Given the description of an element on the screen output the (x, y) to click on. 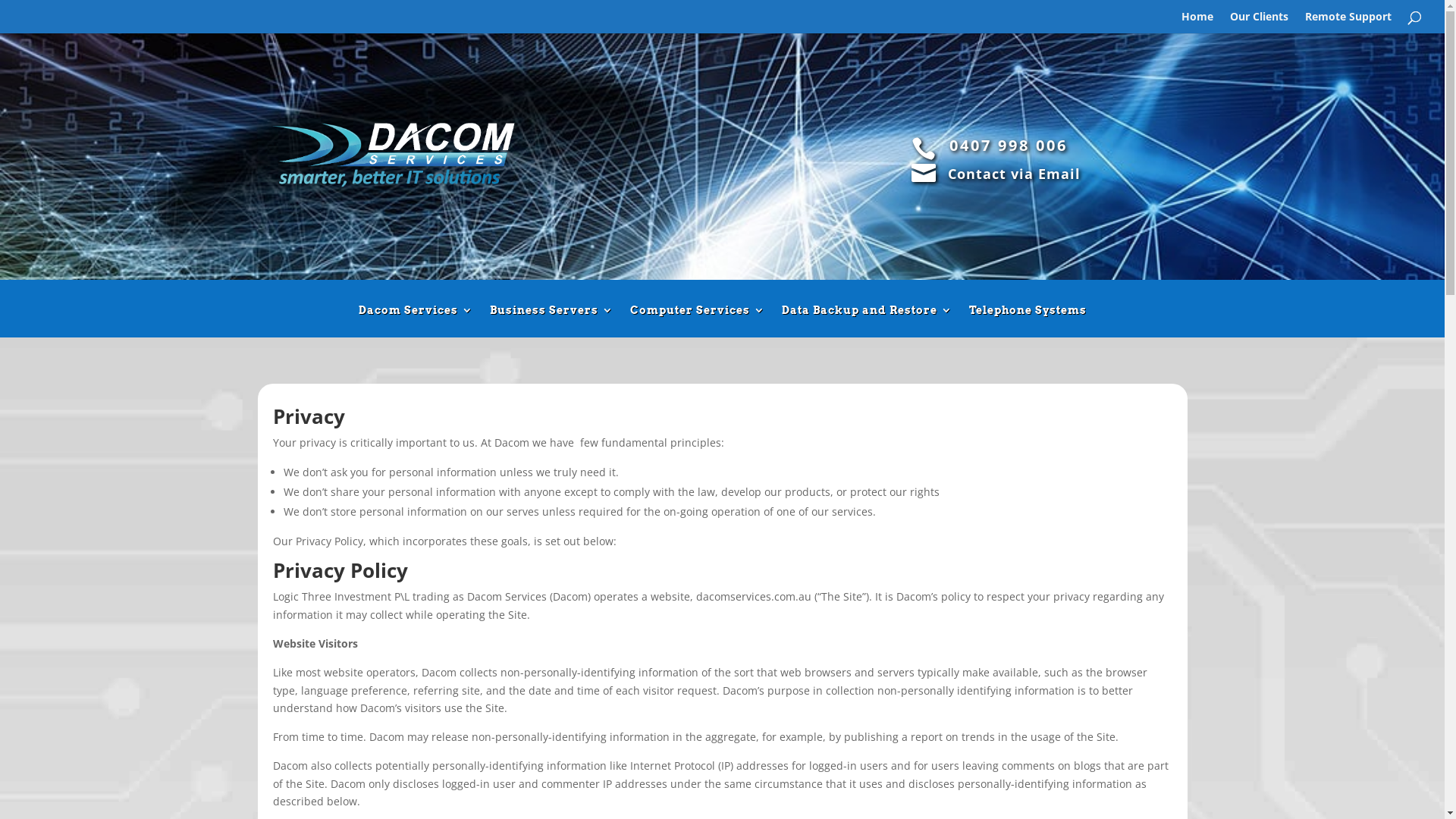
Data Backup and Restore Element type: text (866, 320)
Telephone Systems Element type: text (1027, 320)
Our Clients Element type: text (1259, 22)
Home Element type: text (1197, 22)
Computer Services Element type: text (696, 320)
Business Servers Element type: text (551, 320)
0407 998 006 Element type: text (1008, 144)
Contact via Email Element type: text (1013, 173)
Dacom Services Element type: text (414, 320)
Remote Support Element type: text (1348, 22)
